Given the description of an element on the screen output the (x, y) to click on. 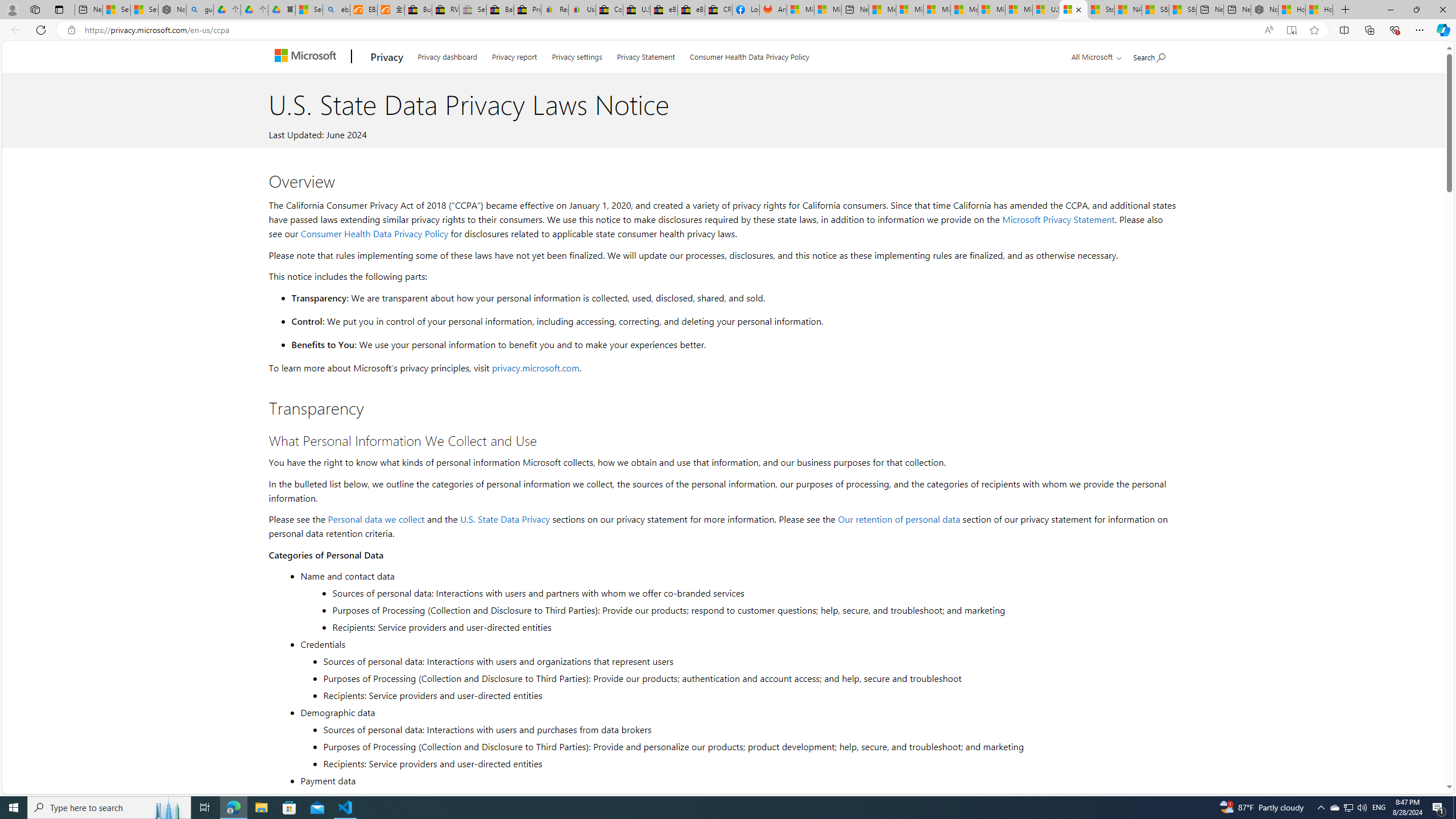
Privacy (386, 56)
Consumer Health Data Privacy Policy (748, 54)
Buy Auto Parts & Accessories | eBay (418, 9)
Privacy settings (577, 54)
Sell worldwide with eBay - Sleeping (473, 9)
App bar (728, 29)
RV, Trailer & Camper Steps & Ladders for sale | eBay (445, 9)
Privacy dashboard (447, 54)
Address and search bar (669, 29)
